Given the description of an element on the screen output the (x, y) to click on. 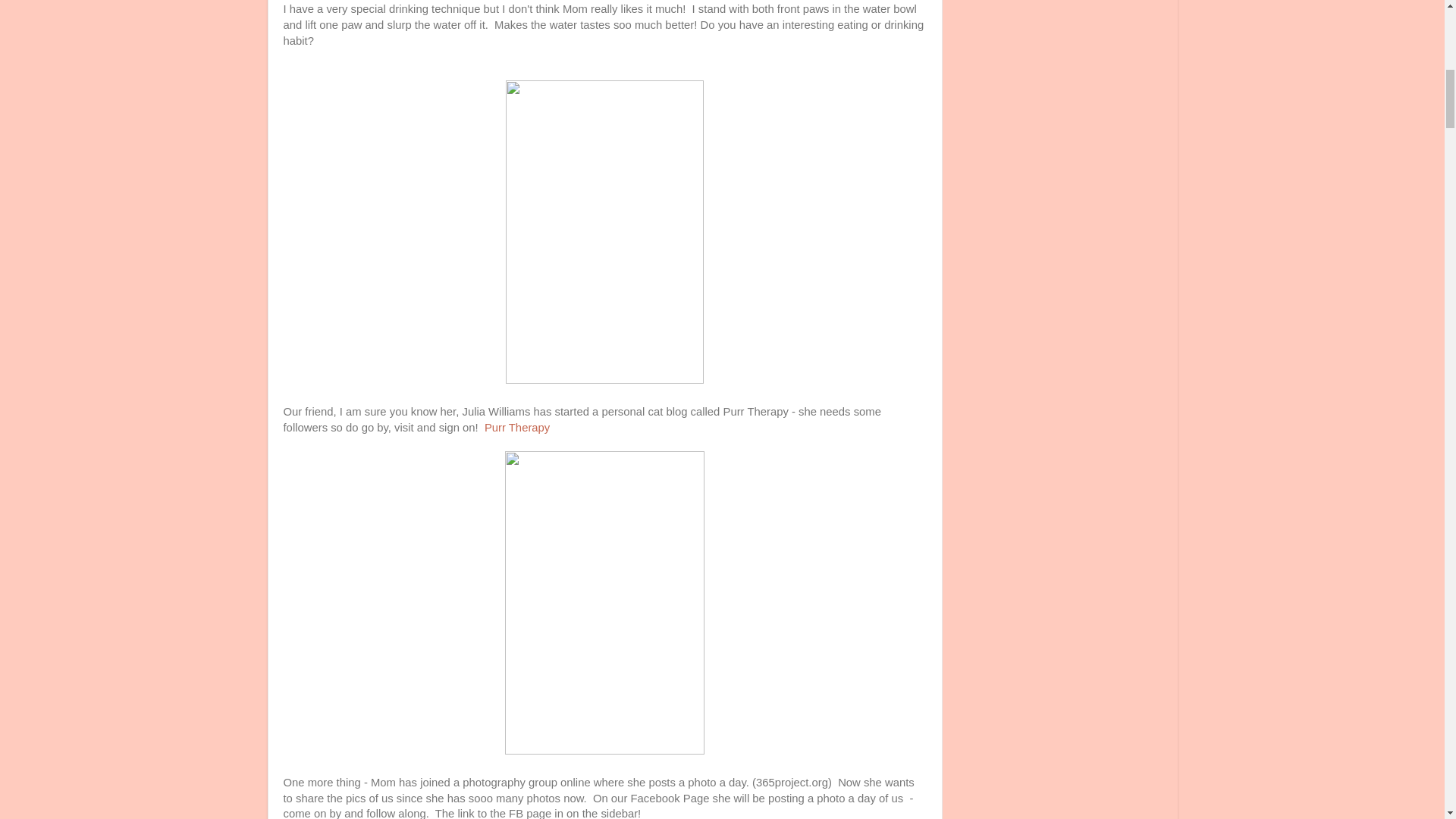
Purr Therapy (517, 427)
